Given the description of an element on the screen output the (x, y) to click on. 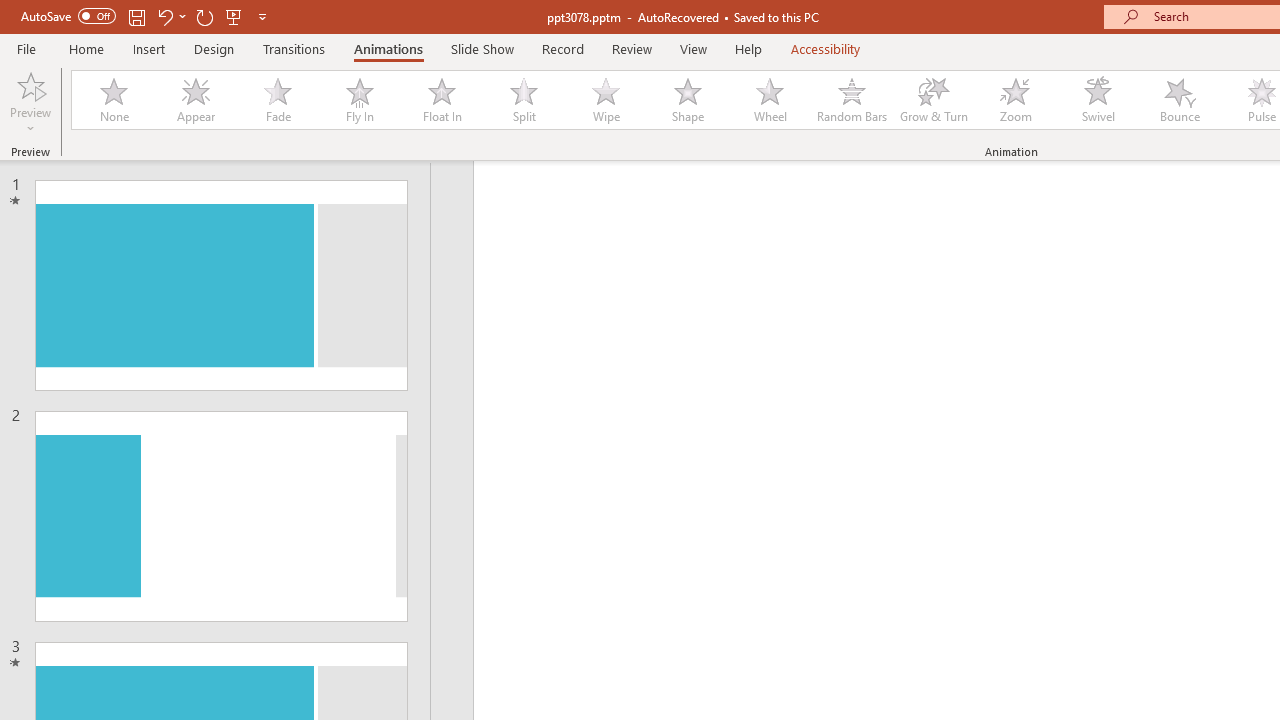
Appear (195, 100)
Fly In (359, 100)
Wheel (770, 100)
